Given the description of an element on the screen output the (x, y) to click on. 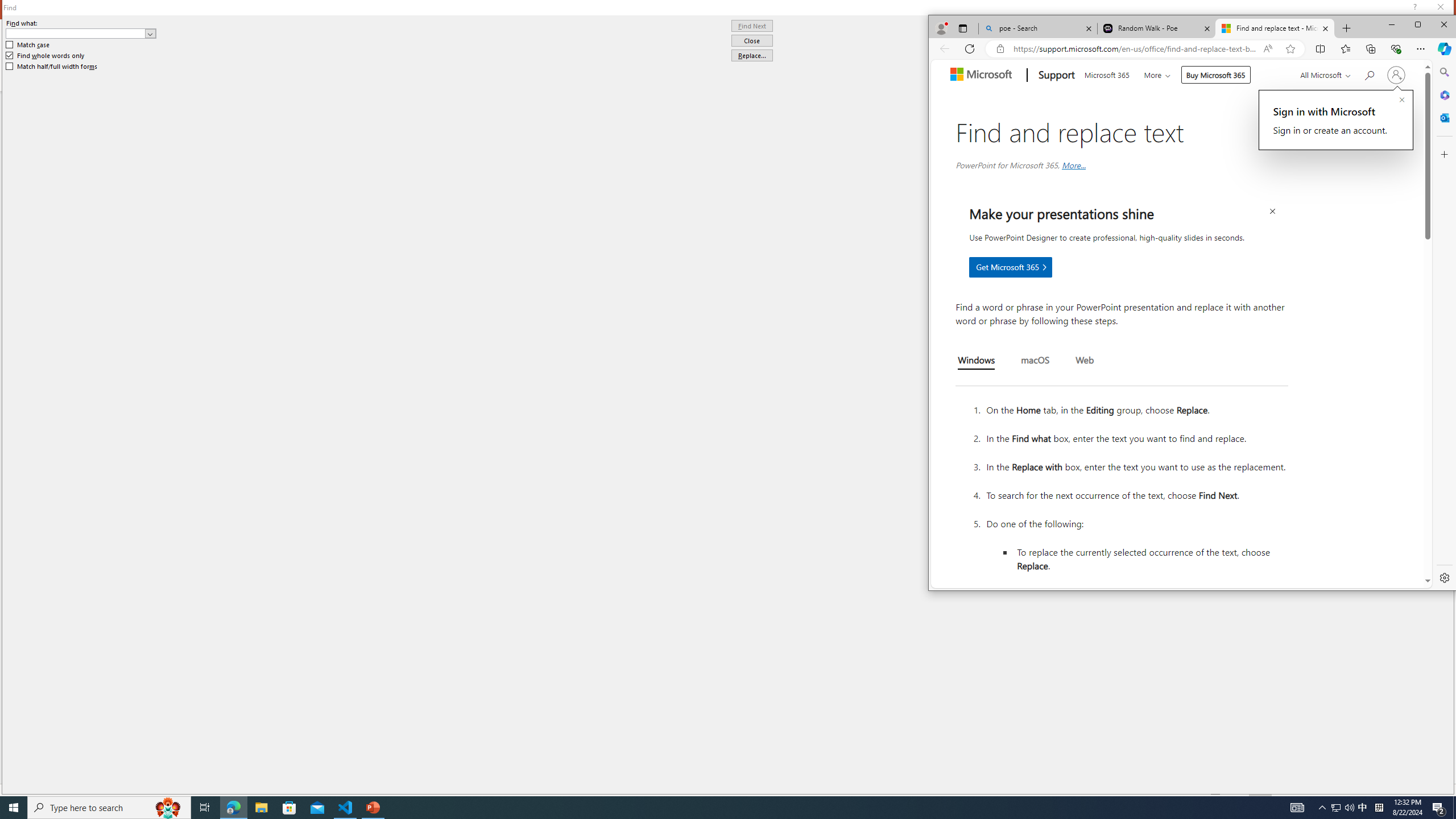
poe - Search (1038, 28)
Add this page to favorites (Ctrl+D) (1290, 48)
